Given the description of an element on the screen output the (x, y) to click on. 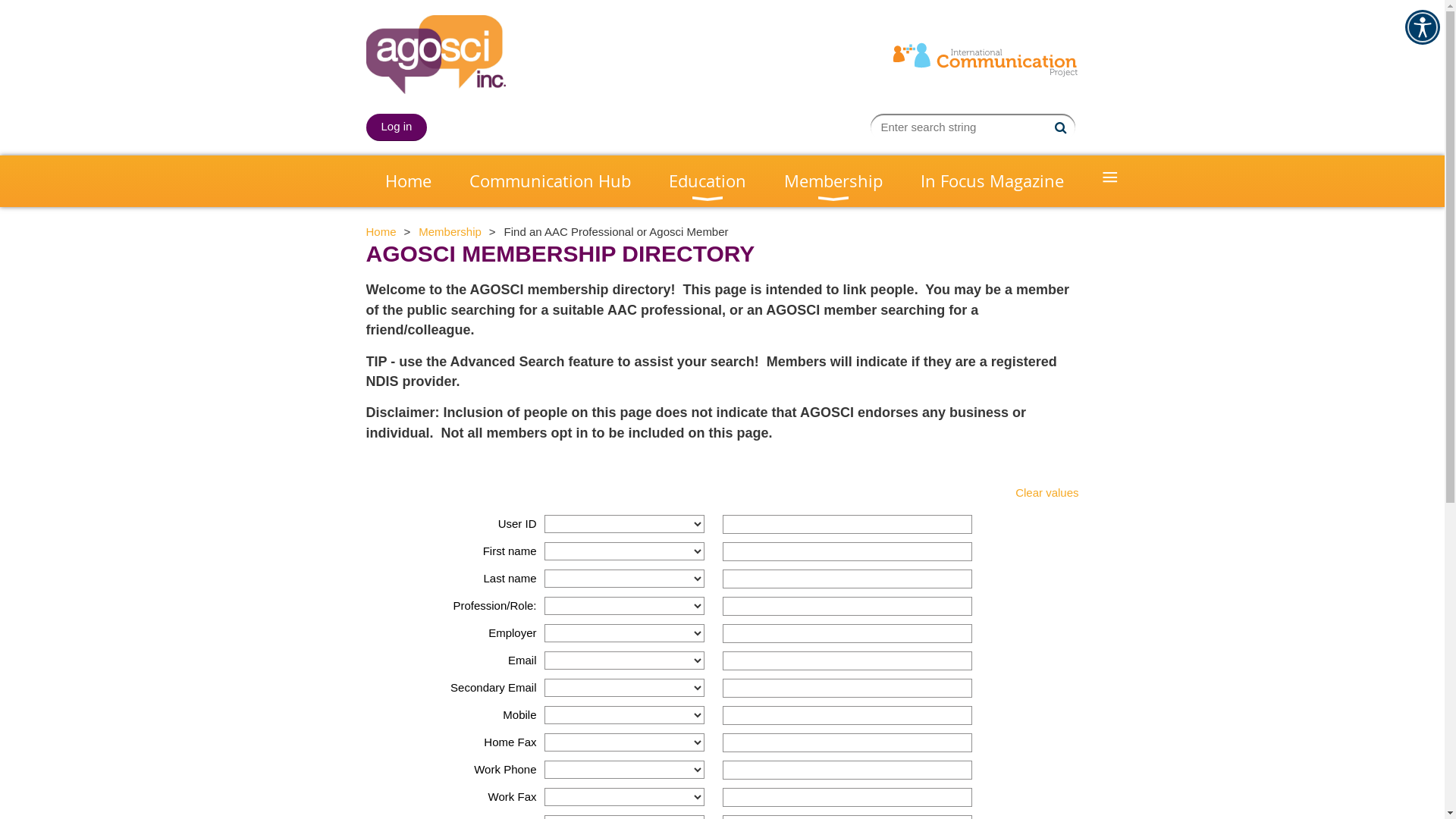
Membership Element type: text (449, 231)
In Focus Magazine Element type: text (991, 181)
Communication Hub Element type: text (549, 181)
Home Element type: text (407, 181)
Clear values Element type: text (1046, 492)
Education Element type: text (706, 181)
Log in Element type: text (395, 127)
Home Element type: text (380, 231)
Membership Element type: text (832, 181)
